Given the description of an element on the screen output the (x, y) to click on. 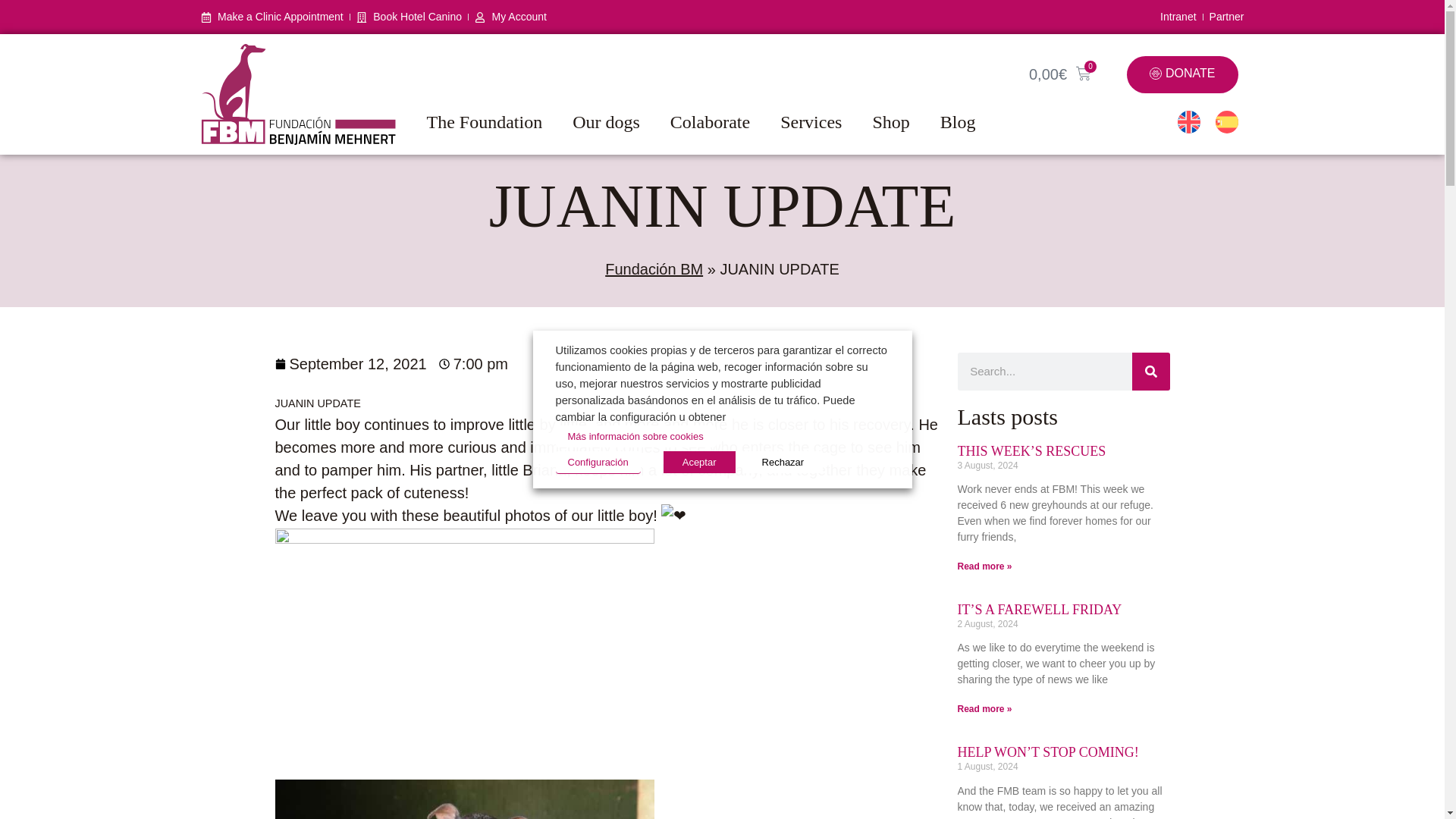
Our dogs (605, 121)
Blog (958, 121)
Colaborate (709, 121)
My Account (510, 17)
DONATE (1181, 74)
Make a Clinic Appointment (271, 17)
Services (810, 121)
The Foundation (484, 121)
Partner (1226, 17)
Shop (890, 121)
